Given the description of an element on the screen output the (x, y) to click on. 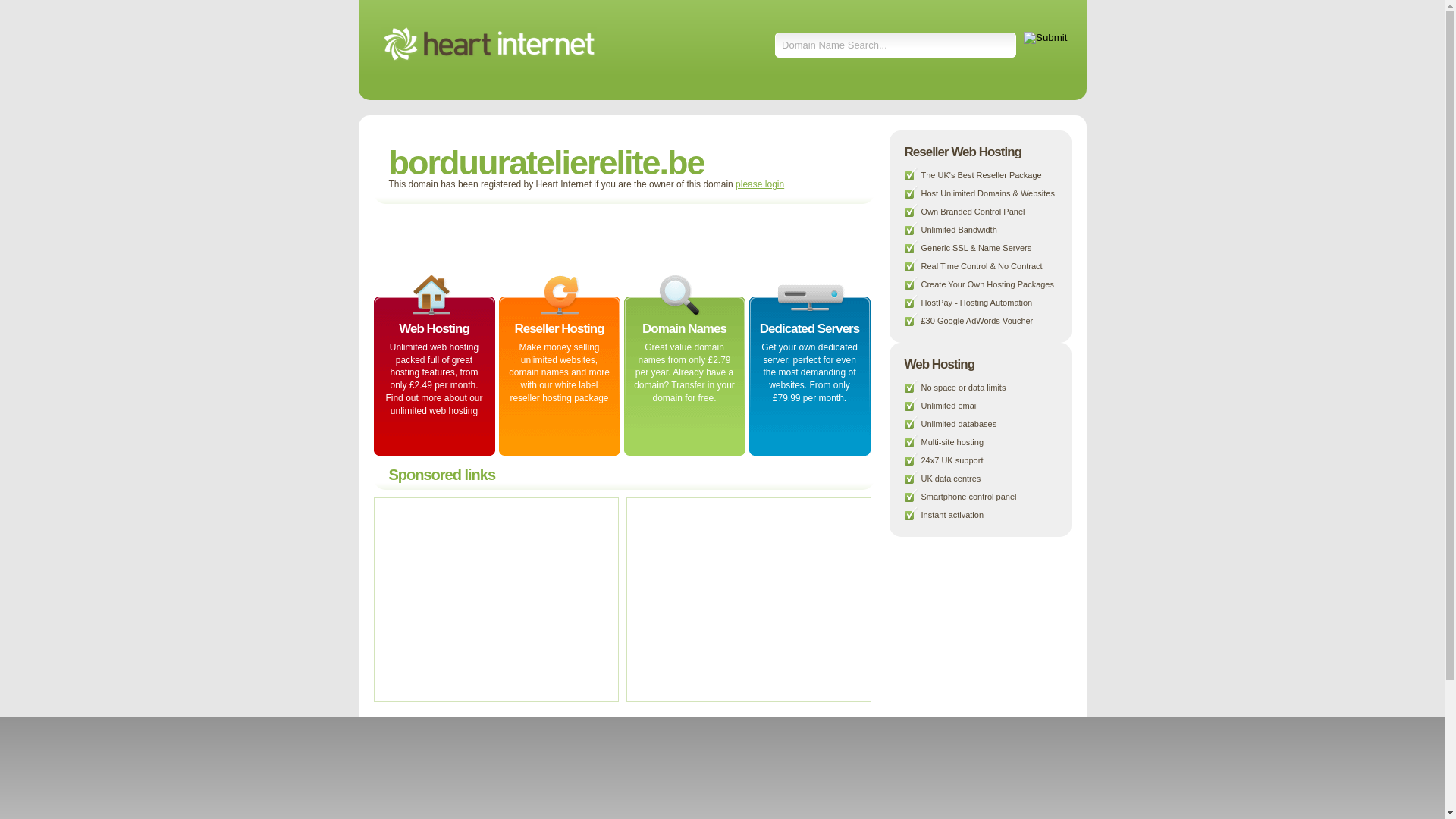
Advertisement Element type: hover (557, 237)
Advertisement Element type: hover (745, 598)
please login Element type: text (759, 183)
Domain Name Search... Element type: text (895, 44)
Advertisement Element type: hover (494, 598)
